Given the description of an element on the screen output the (x, y) to click on. 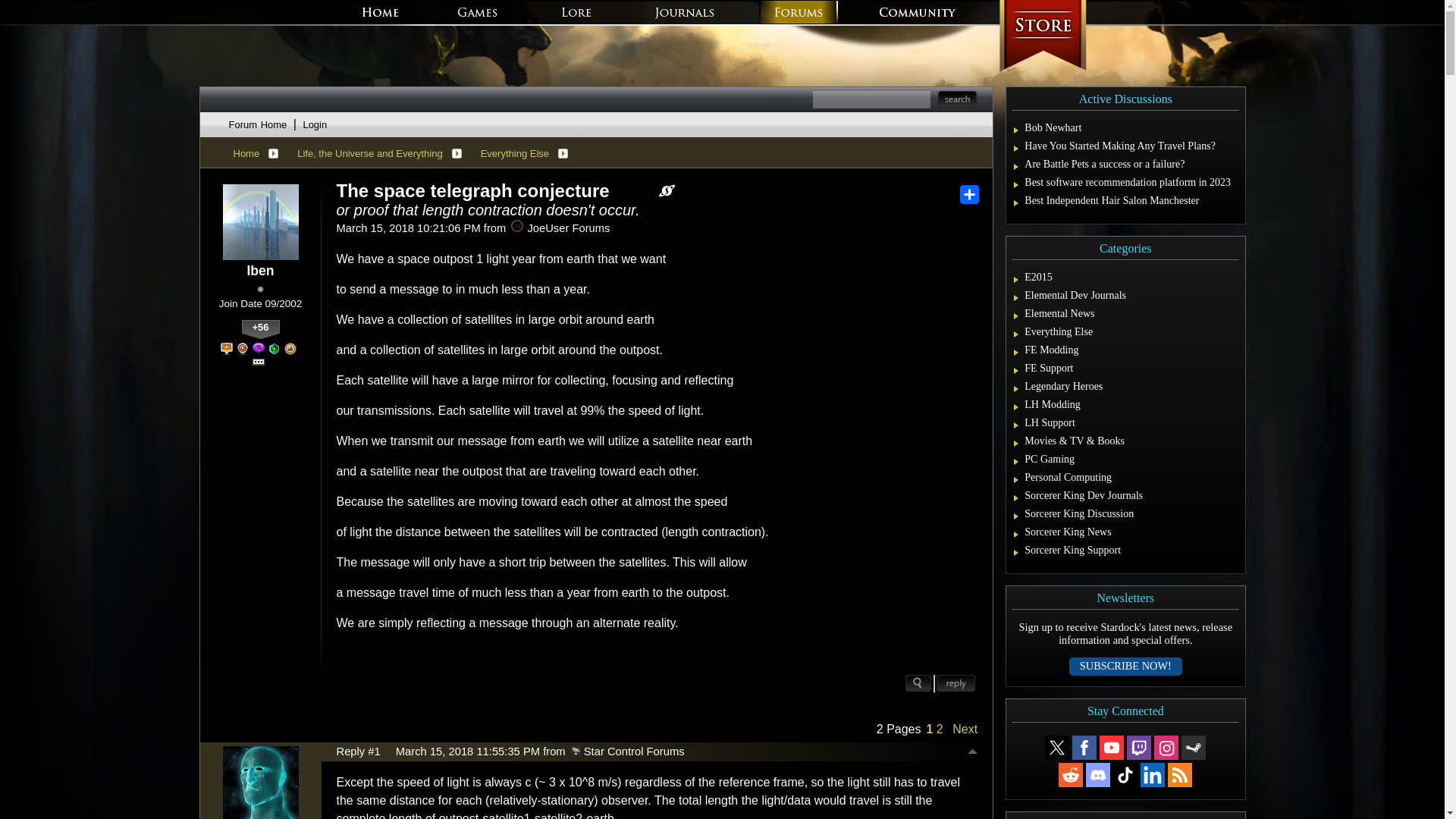
View Iben's Karma (260, 329)
JoeUser Forums (516, 225)
View all awards (257, 361)
Next Stardock Reply (667, 190)
Reply to this post (955, 683)
Click user name to view more options. (259, 270)
Liked - Received 5 Total Karma (290, 348)
The space telegraph conjecture (473, 190)
Super Active Commenter - Replied over 1,000 times (257, 348)
Rank: 1 (260, 288)
Search this post (918, 683)
Novice Poster - Created 5 Posts (274, 348)
